Given the description of an element on the screen output the (x, y) to click on. 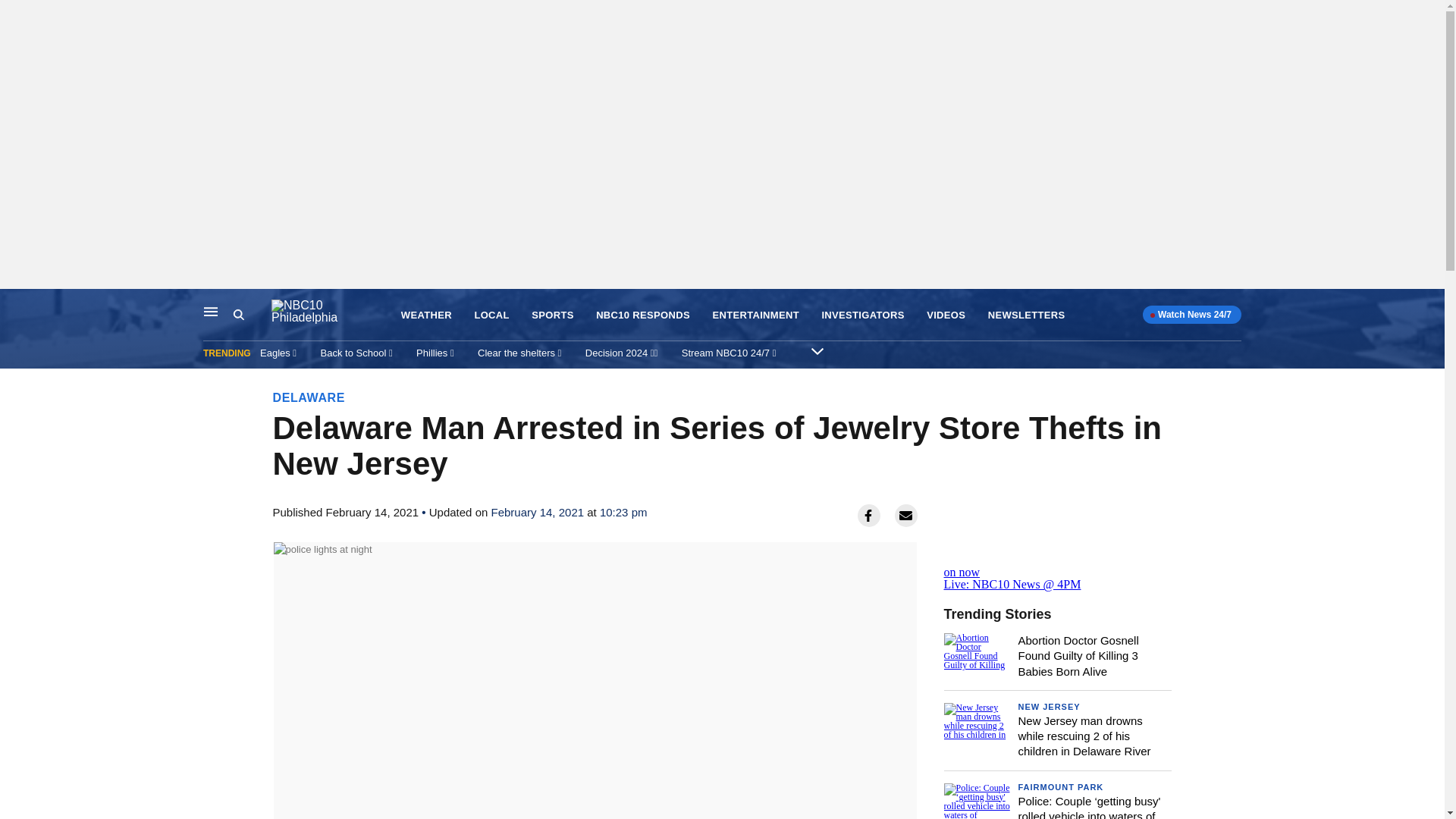
SPORTS (552, 315)
Main Navigation (210, 311)
NBC10 RESPONDS (642, 315)
WEATHER (426, 315)
INVESTIGATORS (862, 315)
Expand (817, 350)
Search (238, 314)
Search (252, 314)
NEWSLETTERS (1026, 315)
